Given the description of an element on the screen output the (x, y) to click on. 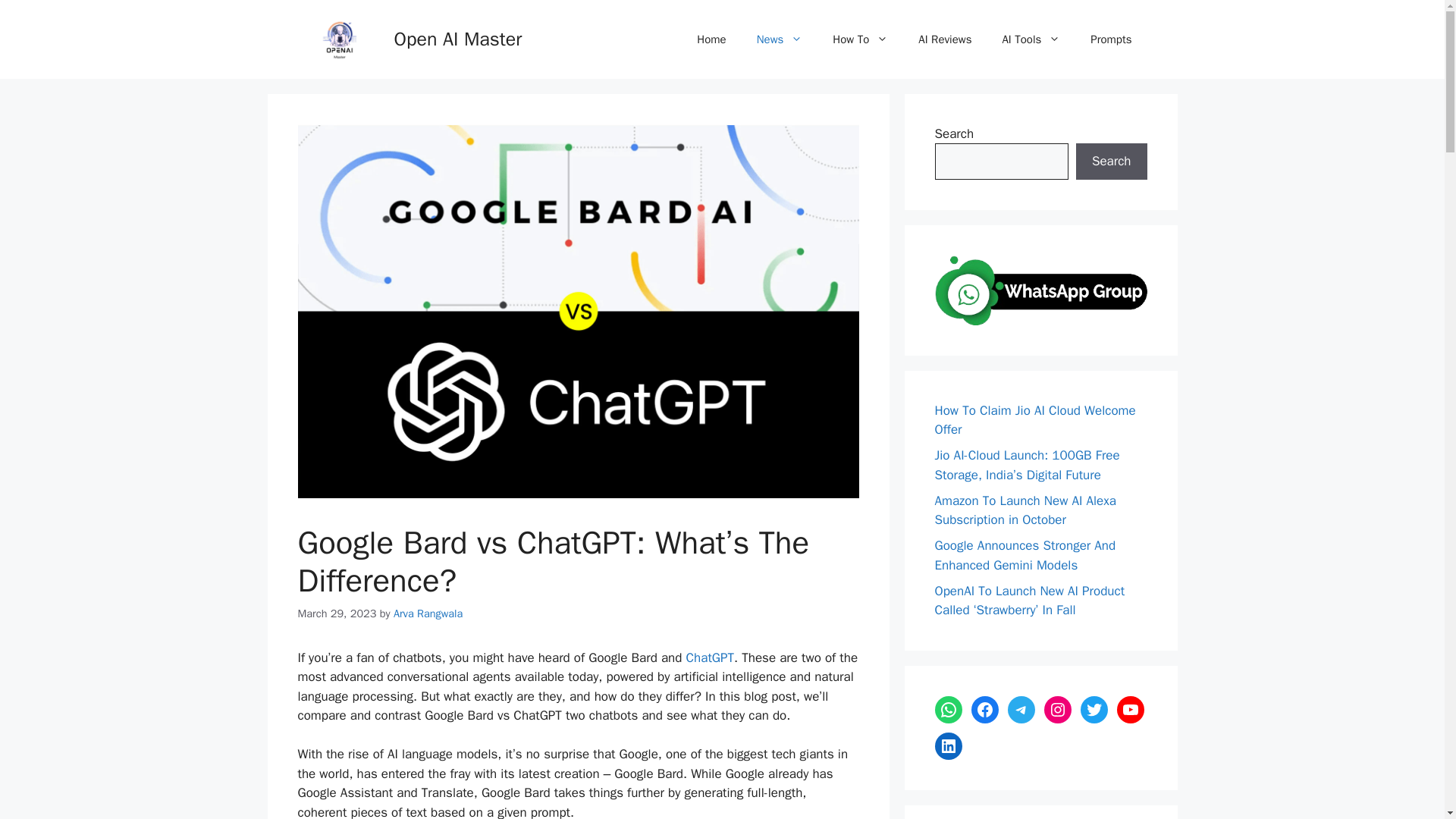
Prompts (1111, 39)
How To (859, 39)
Home (711, 39)
ChatGPT (710, 657)
Search (1111, 161)
Open AI Master (458, 38)
AI Reviews (944, 39)
WhatsApp (947, 709)
Arva Rangwala (428, 612)
Instagram (1056, 709)
